Given the description of an element on the screen output the (x, y) to click on. 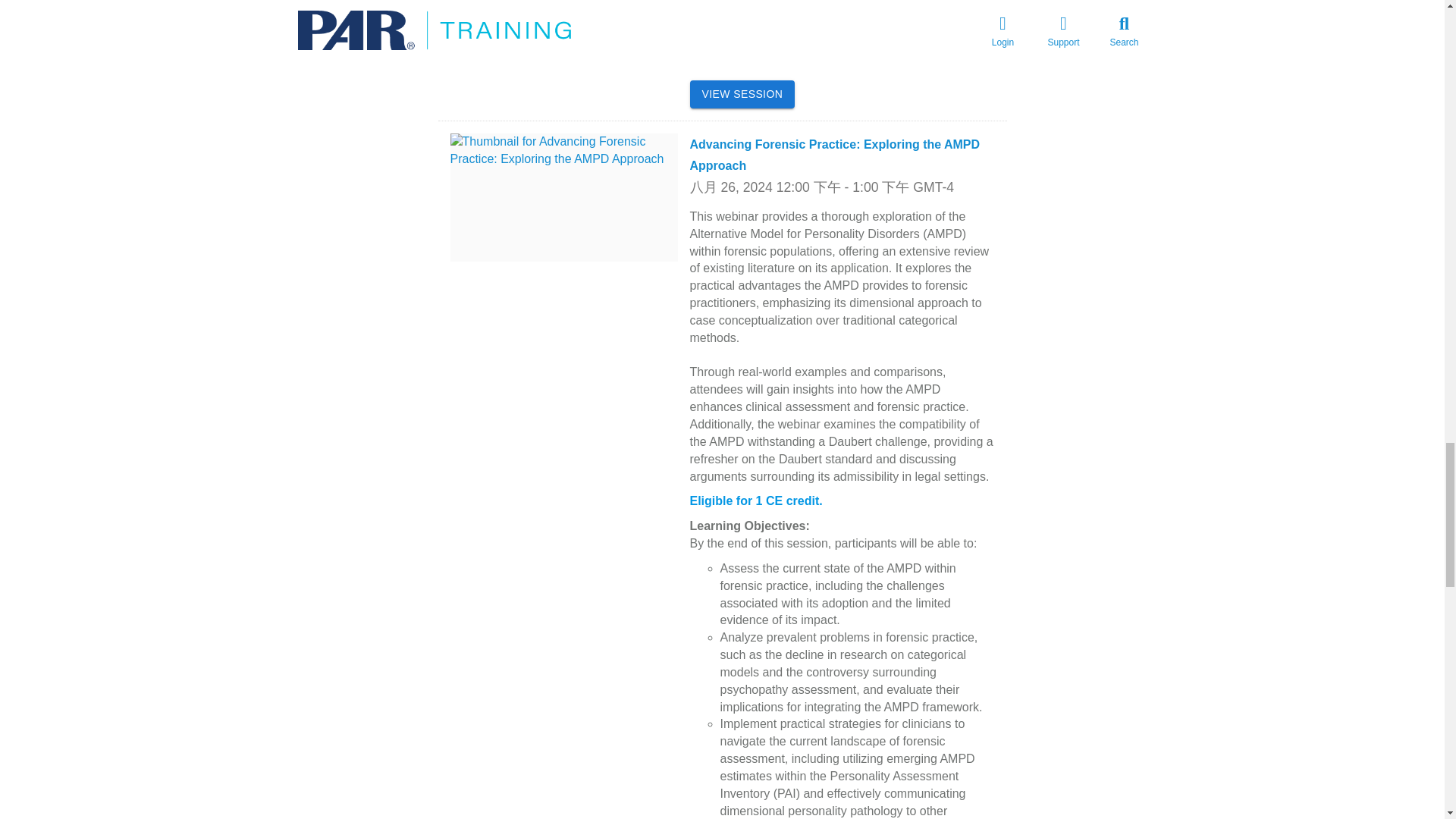
VIEW SESSION (742, 94)
Qualification Level Required: C (779, 4)
Advancing Forensic Practice: Exploring the AMPD Approach (834, 154)
